Given the description of an element on the screen output the (x, y) to click on. 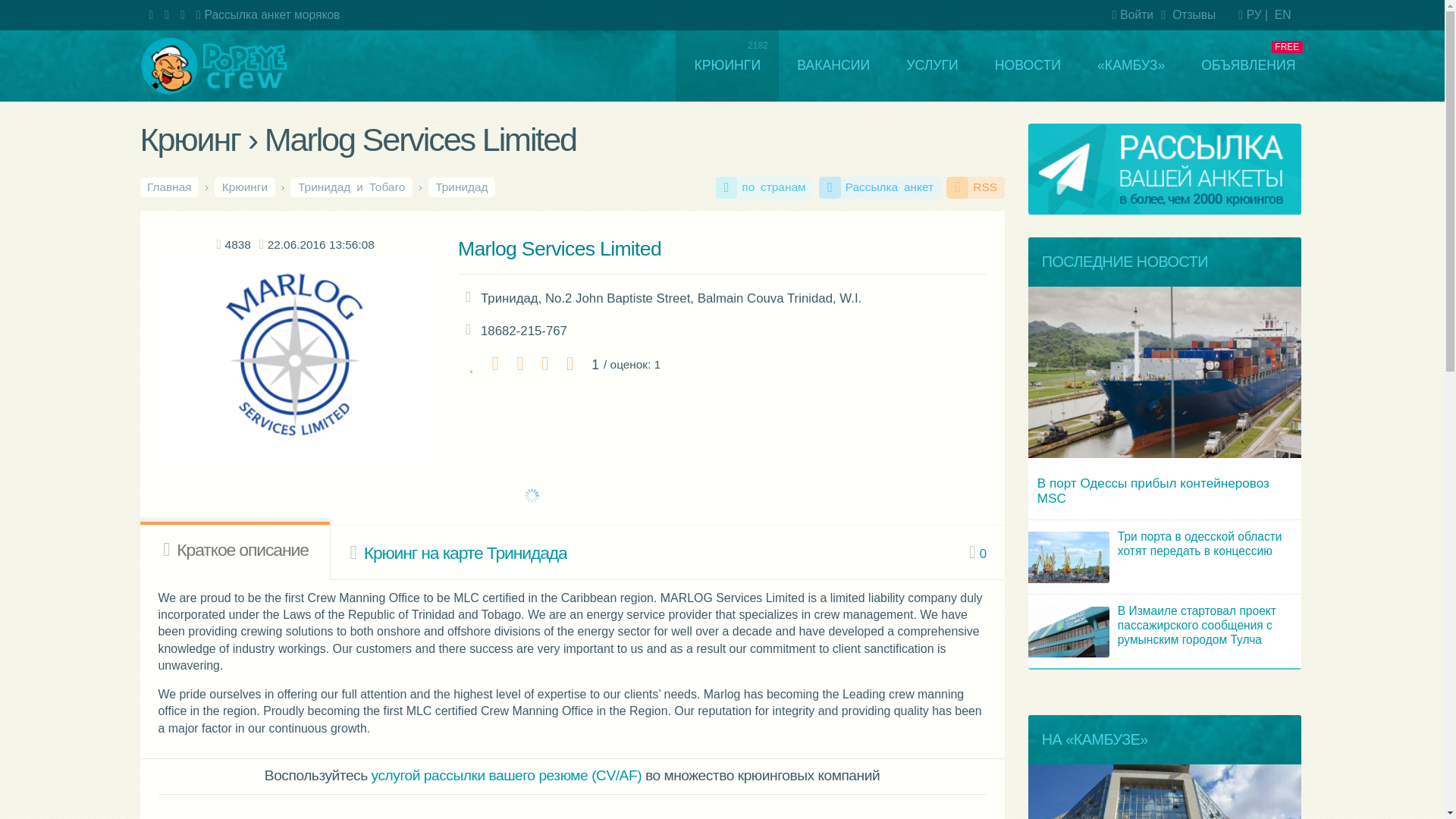
FREE (1039, 54)
Crewing company profile (196, 459)
0 (814, 461)
RSS (812, 156)
Last edition (263, 204)
2182 (606, 54)
Disqus (273, 799)
